Given the description of an element on the screen output the (x, y) to click on. 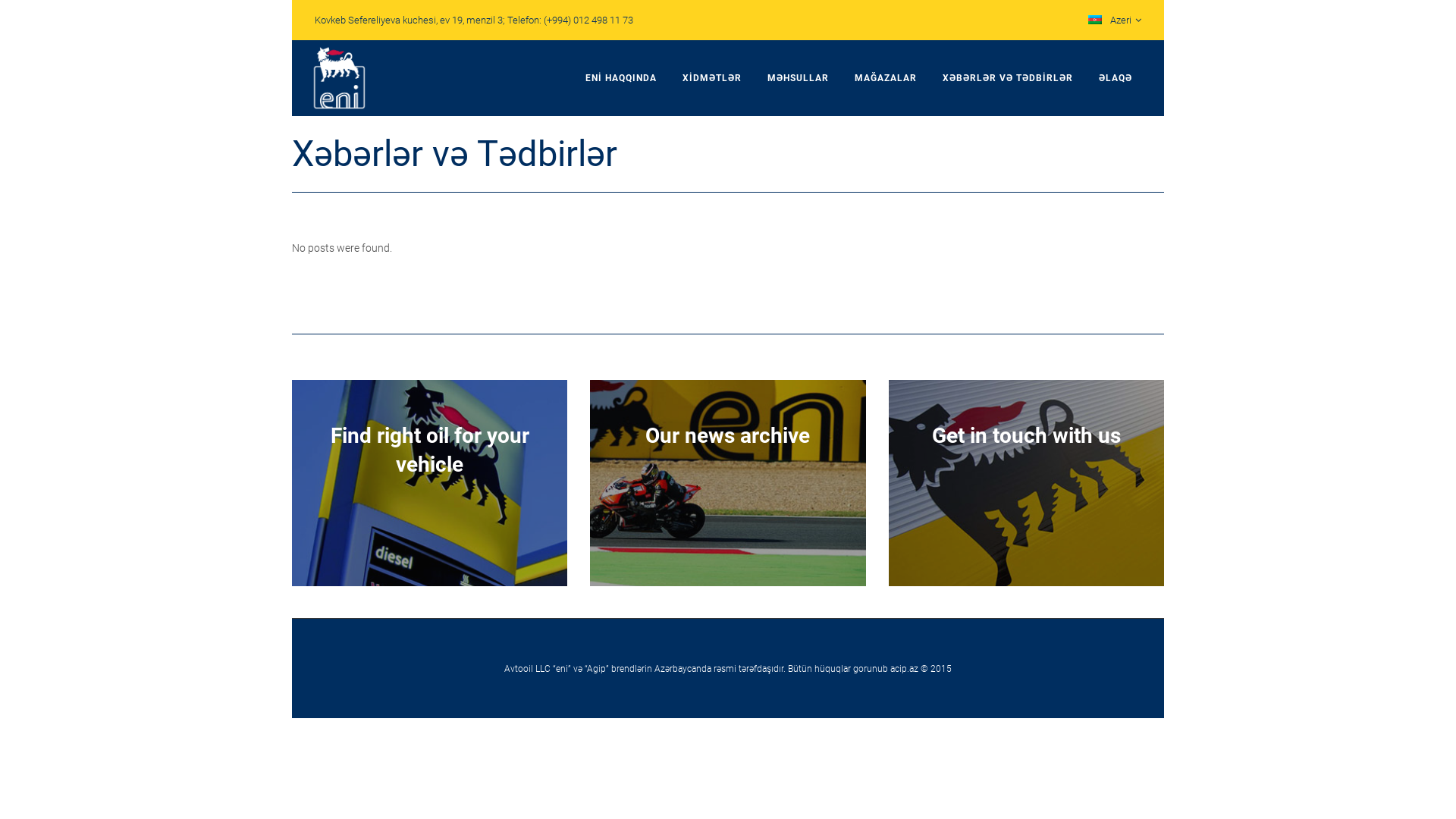
 Azeri Element type: text (1108, 19)
Azeri Element type: hover (1094, 19)
ENI HAQQINDA Element type: text (620, 78)
